Given the description of an element on the screen output the (x, y) to click on. 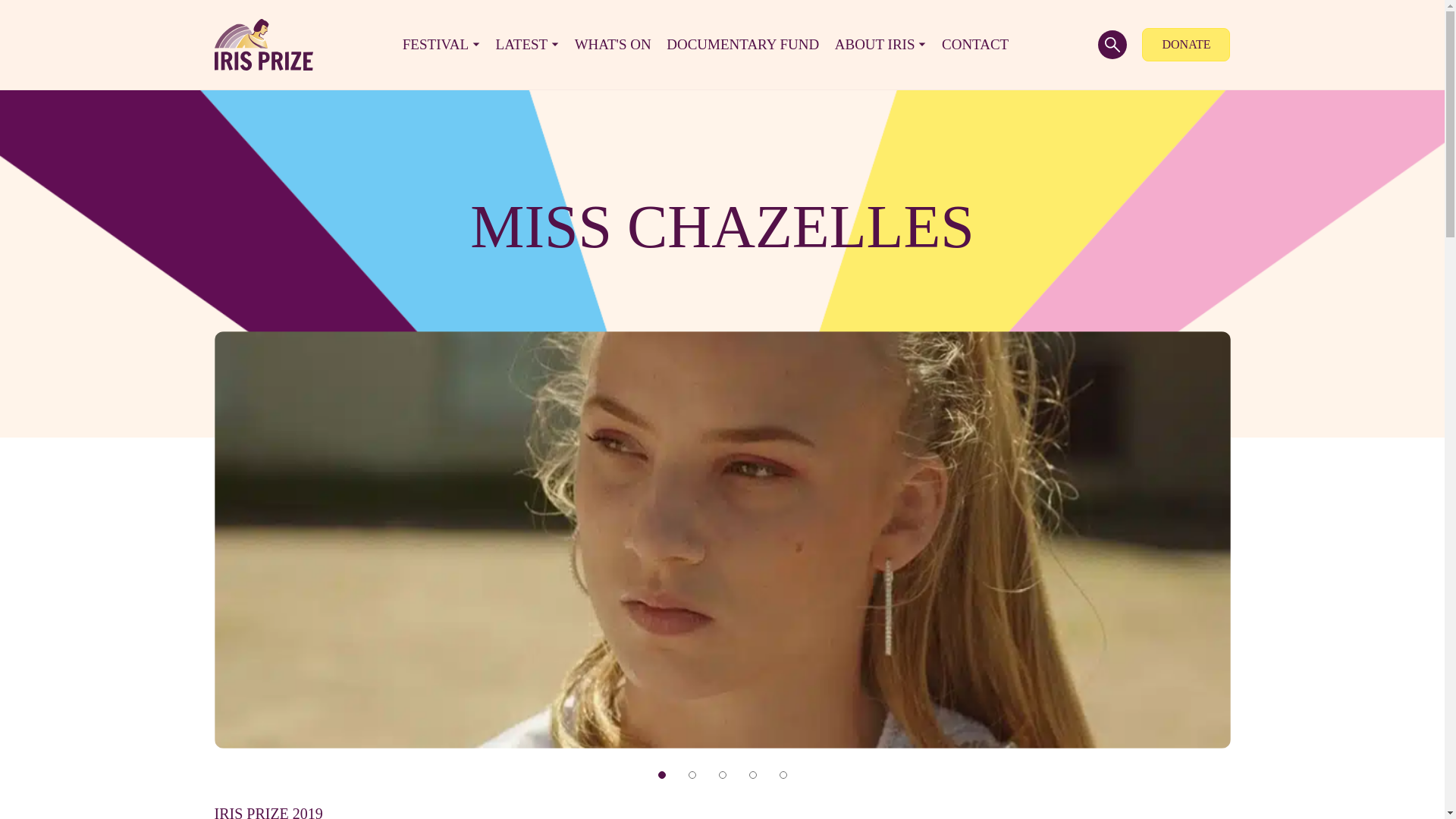
FESTIVAL (441, 44)
